Given the description of an element on the screen output the (x, y) to click on. 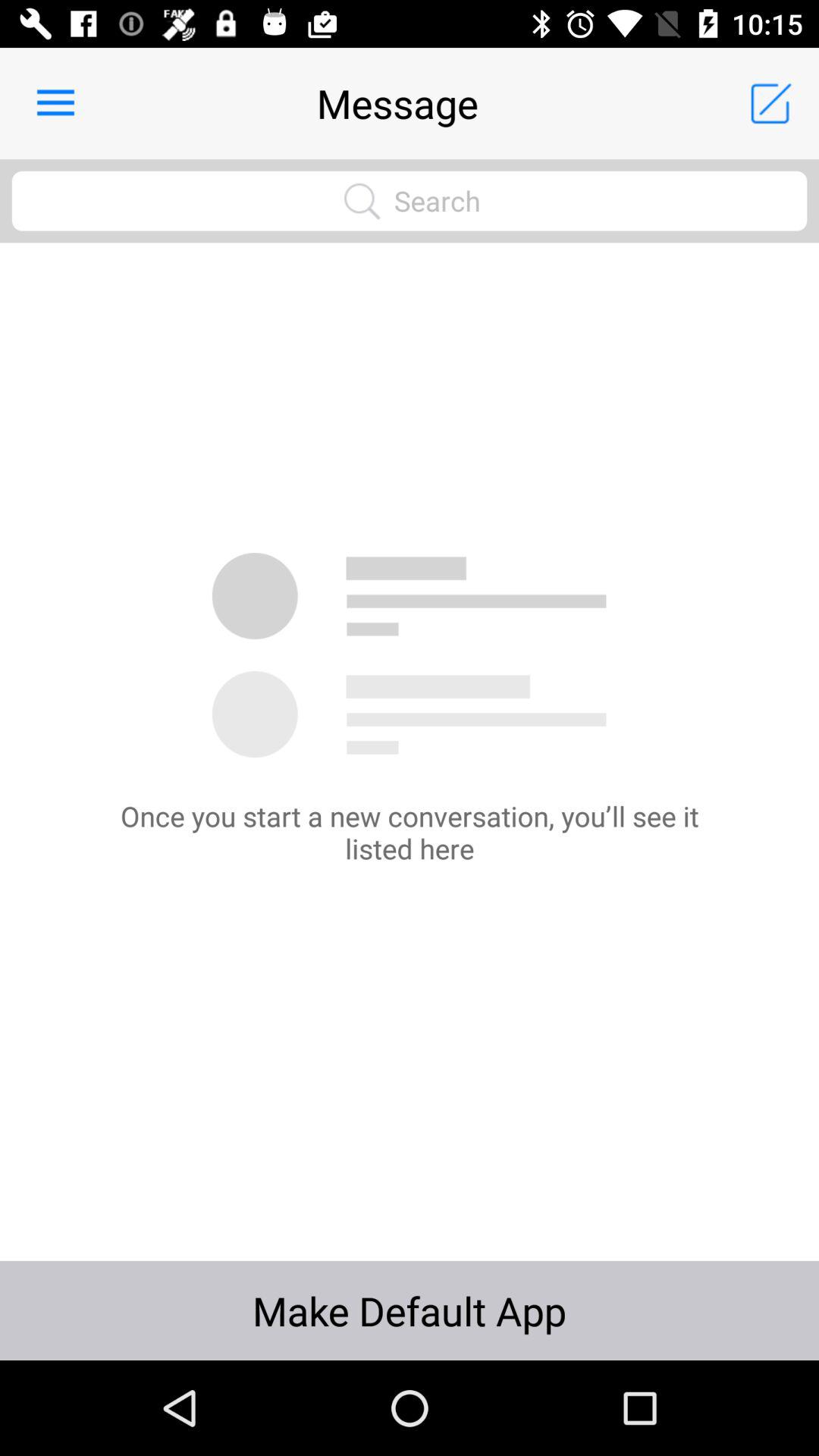
tap icon at the bottom (409, 1310)
